Given the description of an element on the screen output the (x, y) to click on. 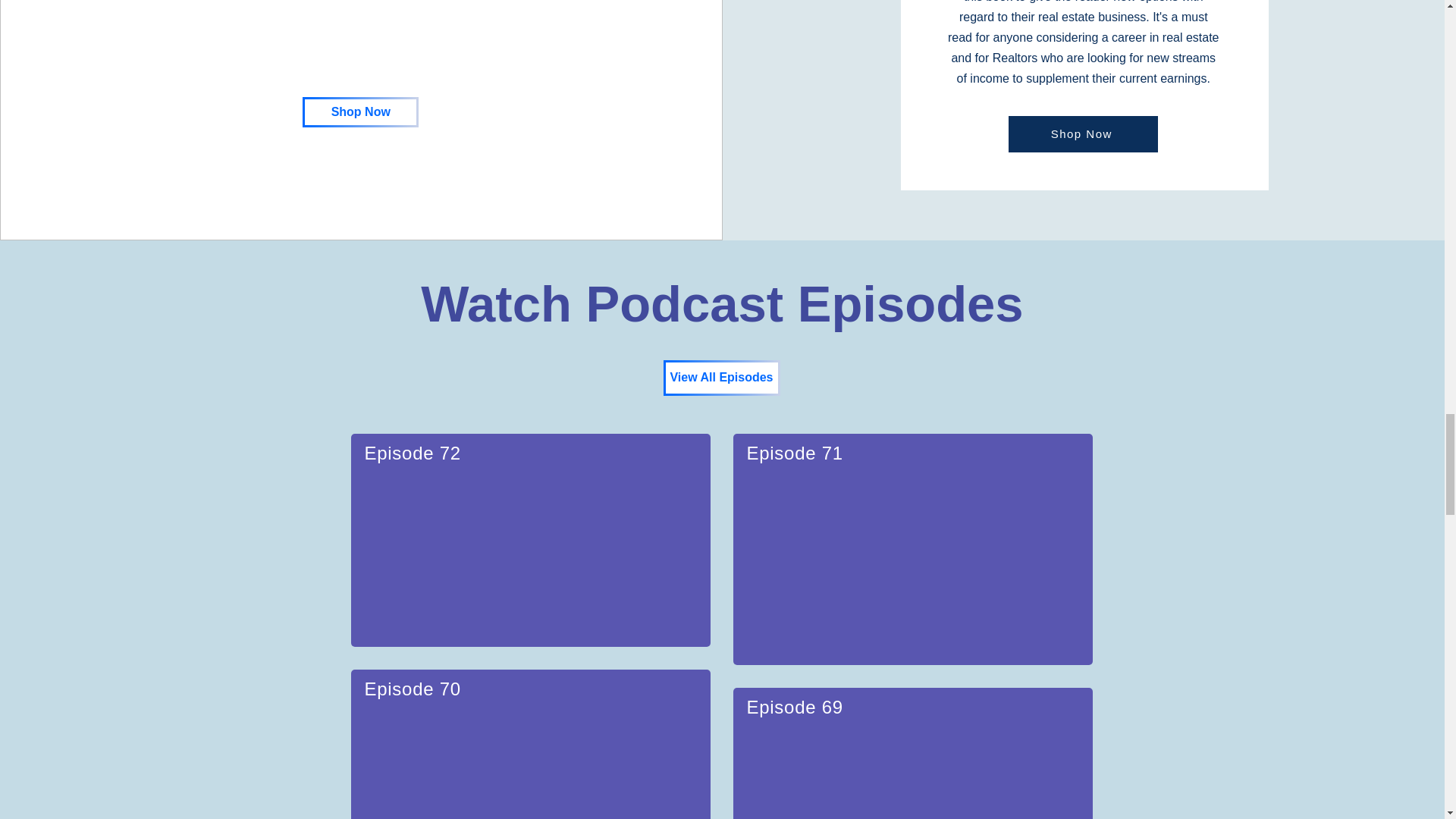
View All Episodes (720, 377)
Shop Now (360, 112)
Shop Now (1083, 134)
